Given the description of an element on the screen output the (x, y) to click on. 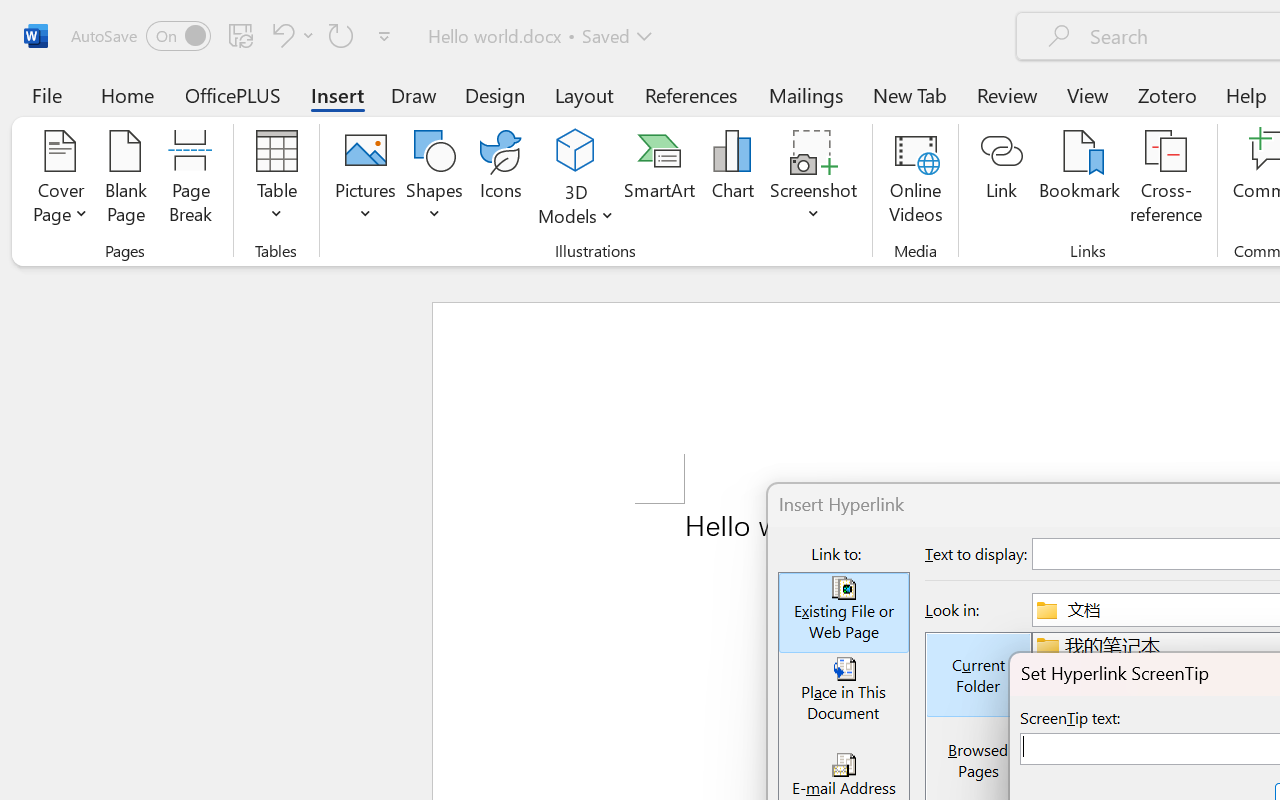
Insert (337, 94)
Design (495, 94)
Icons (500, 179)
Layout (584, 94)
Customize Quick Access Toolbar (384, 35)
Can't Repeat (341, 35)
Blank Page (125, 179)
Review (1007, 94)
Online Videos... (915, 179)
Draw (413, 94)
Save (241, 35)
Quick Access Toolbar (233, 36)
3D Models (576, 151)
Table (276, 179)
